Given the description of an element on the screen output the (x, y) to click on. 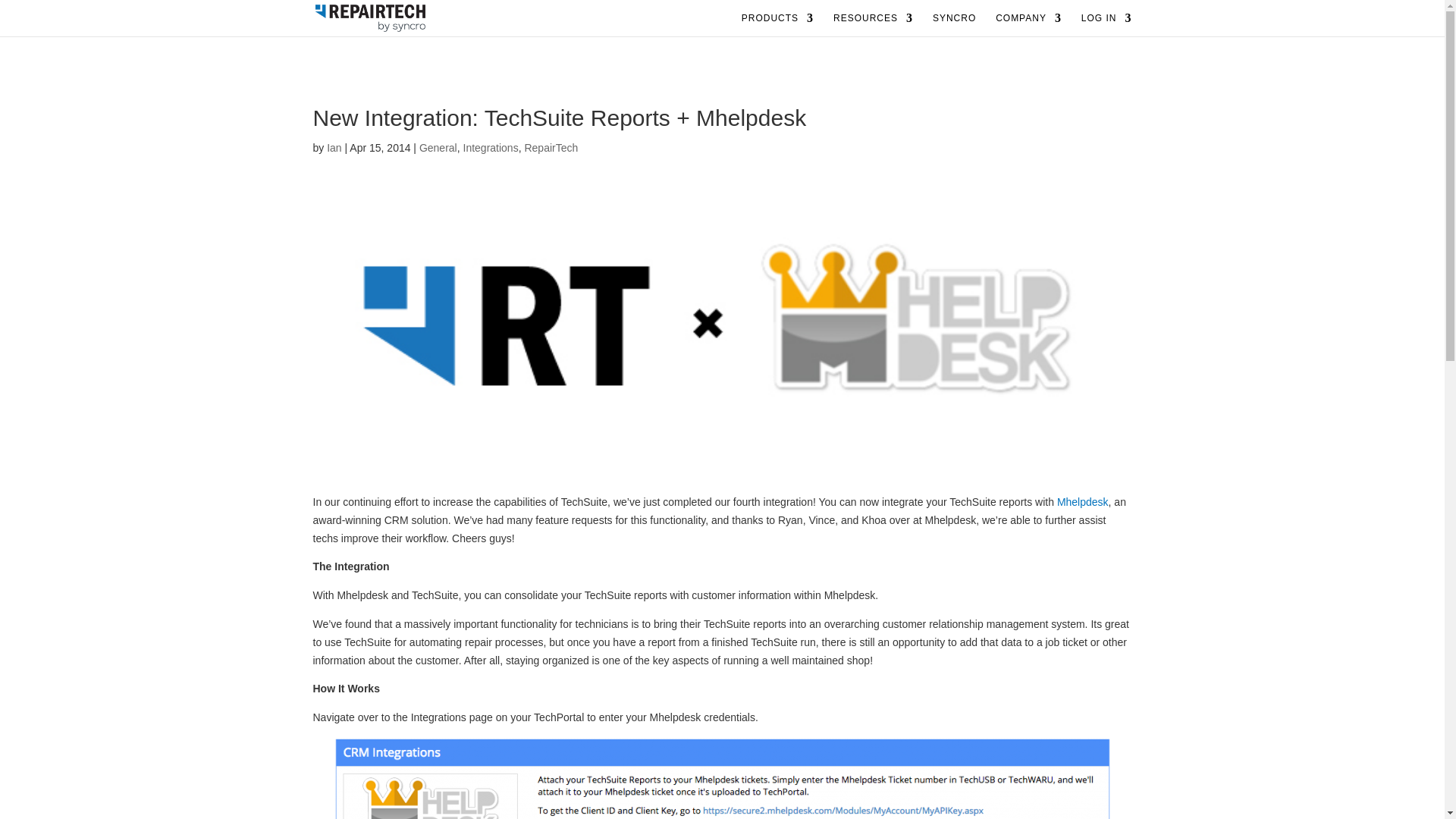
Mhelpdesk (1082, 501)
PRODUCTS (777, 24)
Integrations (490, 147)
COMPANY (1028, 24)
SYNCRO (954, 24)
Ian (333, 147)
General (438, 147)
RepairTech (551, 147)
Posts by Ian (333, 147)
LOG IN (1106, 24)
